Given the description of an element on the screen output the (x, y) to click on. 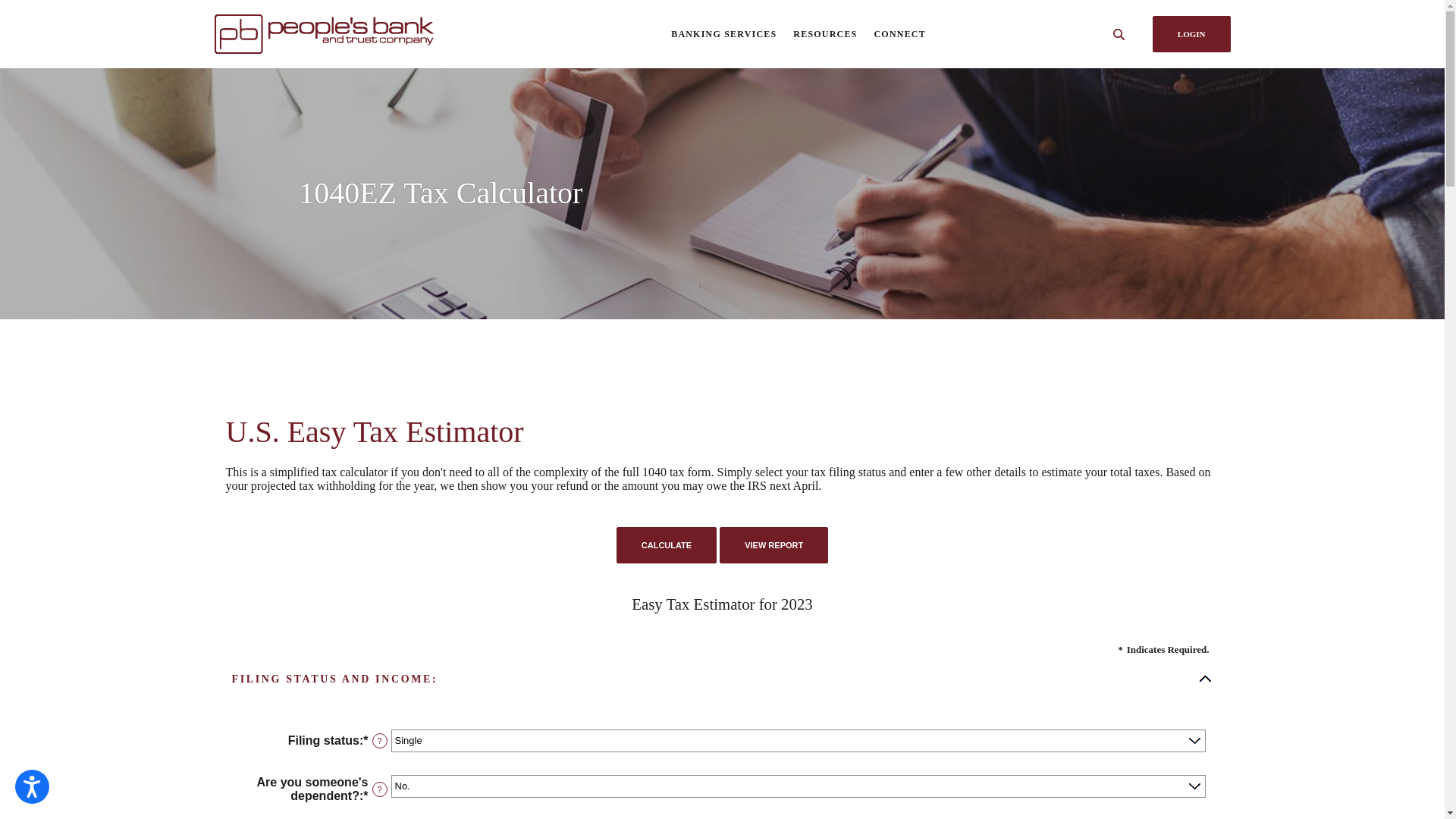
Peoples Bank & Trust, Byrdstown, TN Element type: hover (350, 33)
? Element type: text (378, 740)
LOGIN Element type: text (1191, 33)
? Element type: text (378, 789)
